Given the description of an element on the screen output the (x, y) to click on. 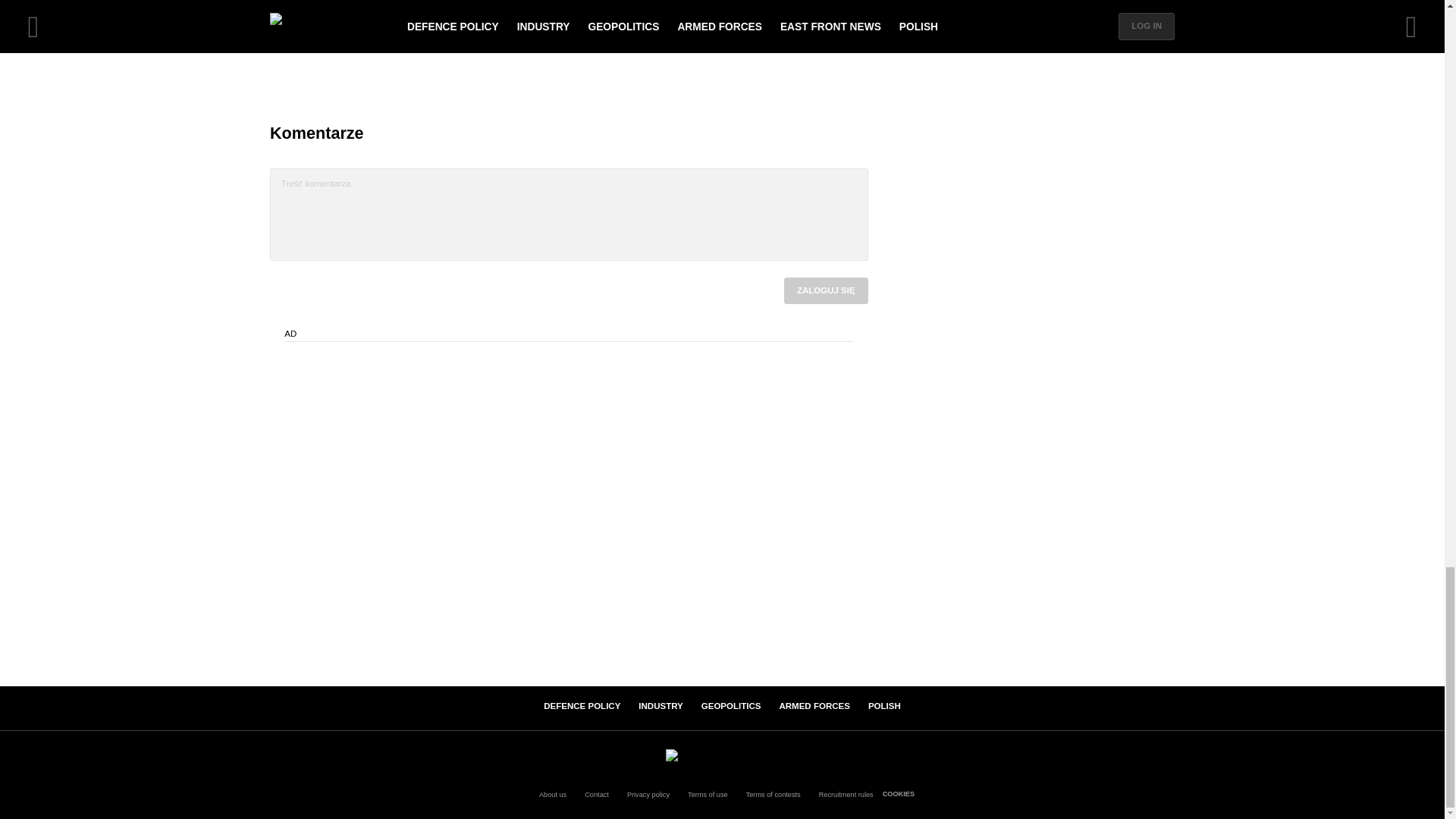
INDUSTRY (659, 705)
DEFENCE POLICY (581, 705)
GEOPOLITICS (731, 705)
